Given the description of an element on the screen output the (x, y) to click on. 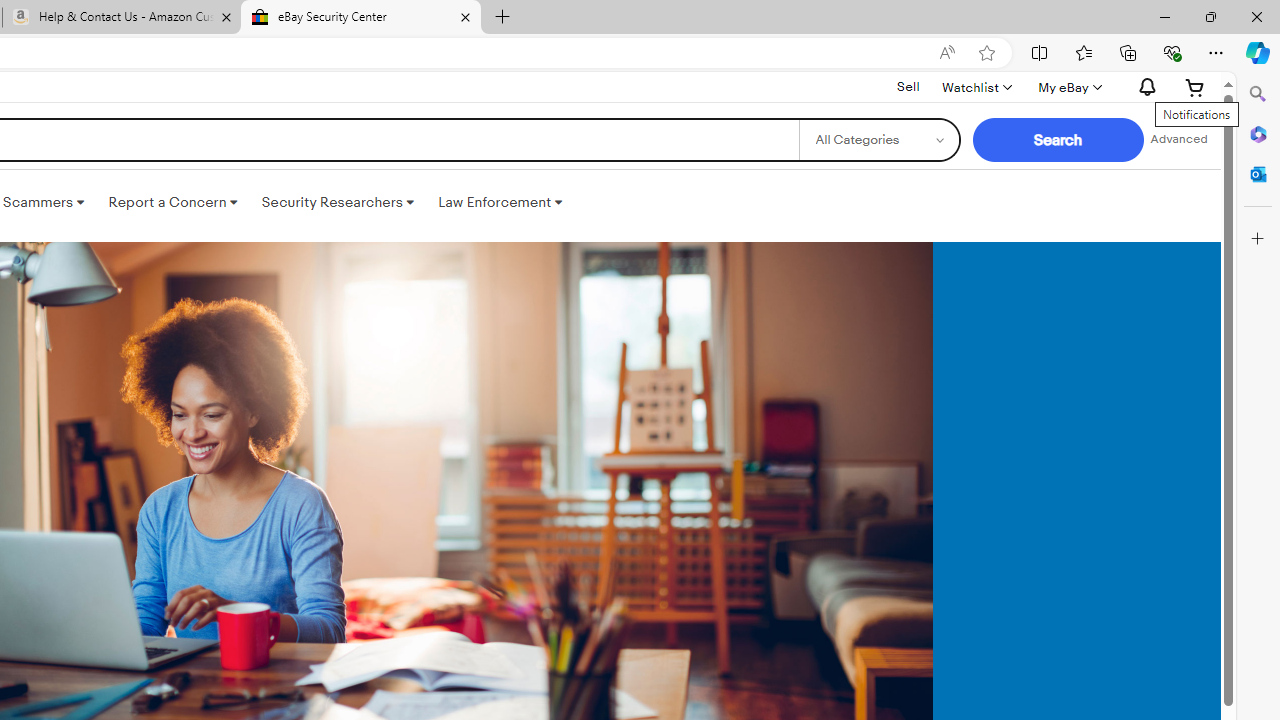
Your shopping cart (1195, 87)
Security Researchers  (337, 202)
Law Enforcement  (500, 202)
WatchlistExpand Watch List (975, 87)
AutomationID: gh-eb-Alerts (1144, 87)
Report a Concern  (173, 202)
Security Researchers  (337, 202)
Advanced Search (1179, 139)
